Given the description of an element on the screen output the (x, y) to click on. 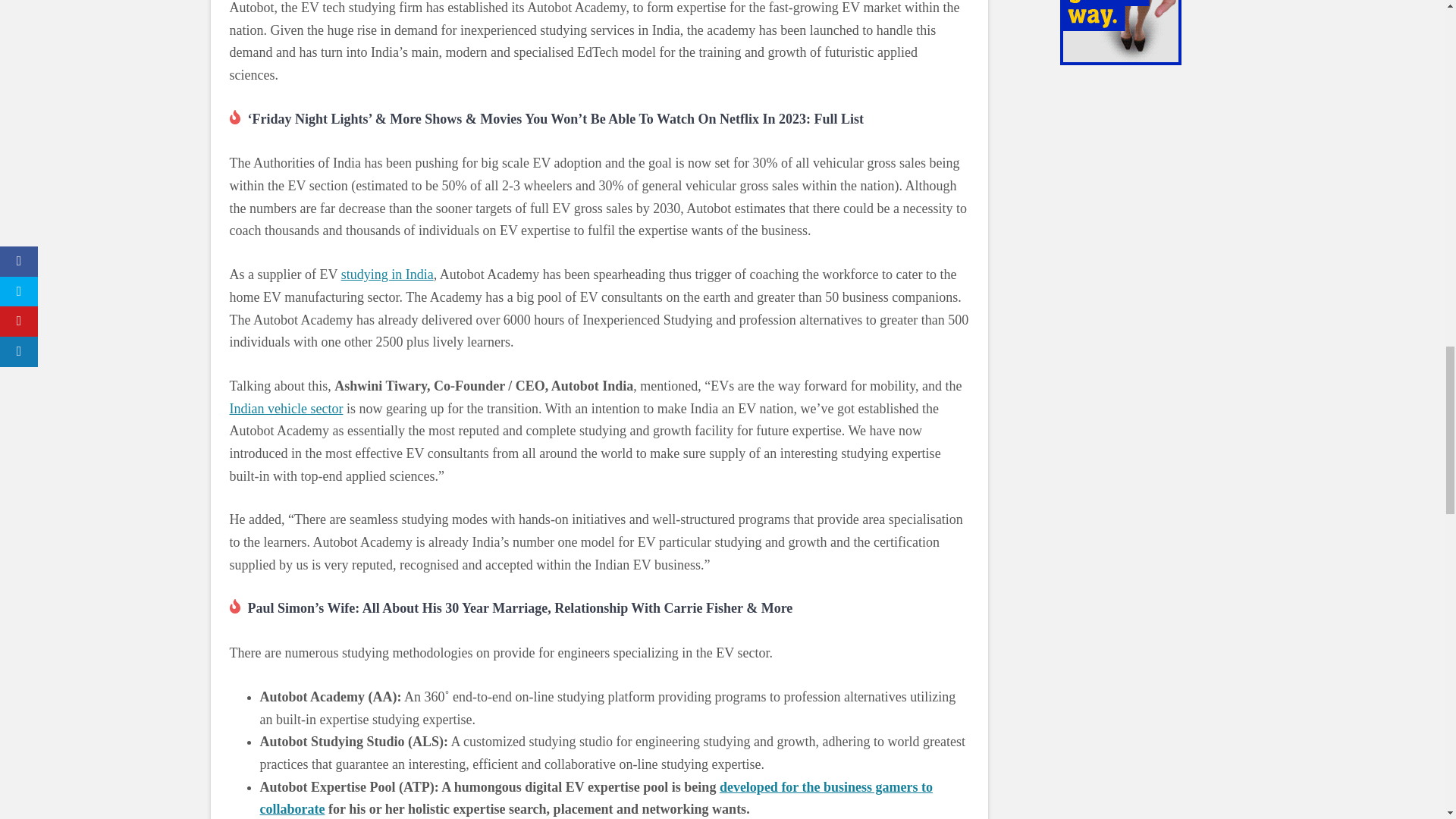
Indian vehicle sector (285, 408)
developed for the business gamers to collaborate (596, 798)
studying in India (386, 273)
